Given the description of an element on the screen output the (x, y) to click on. 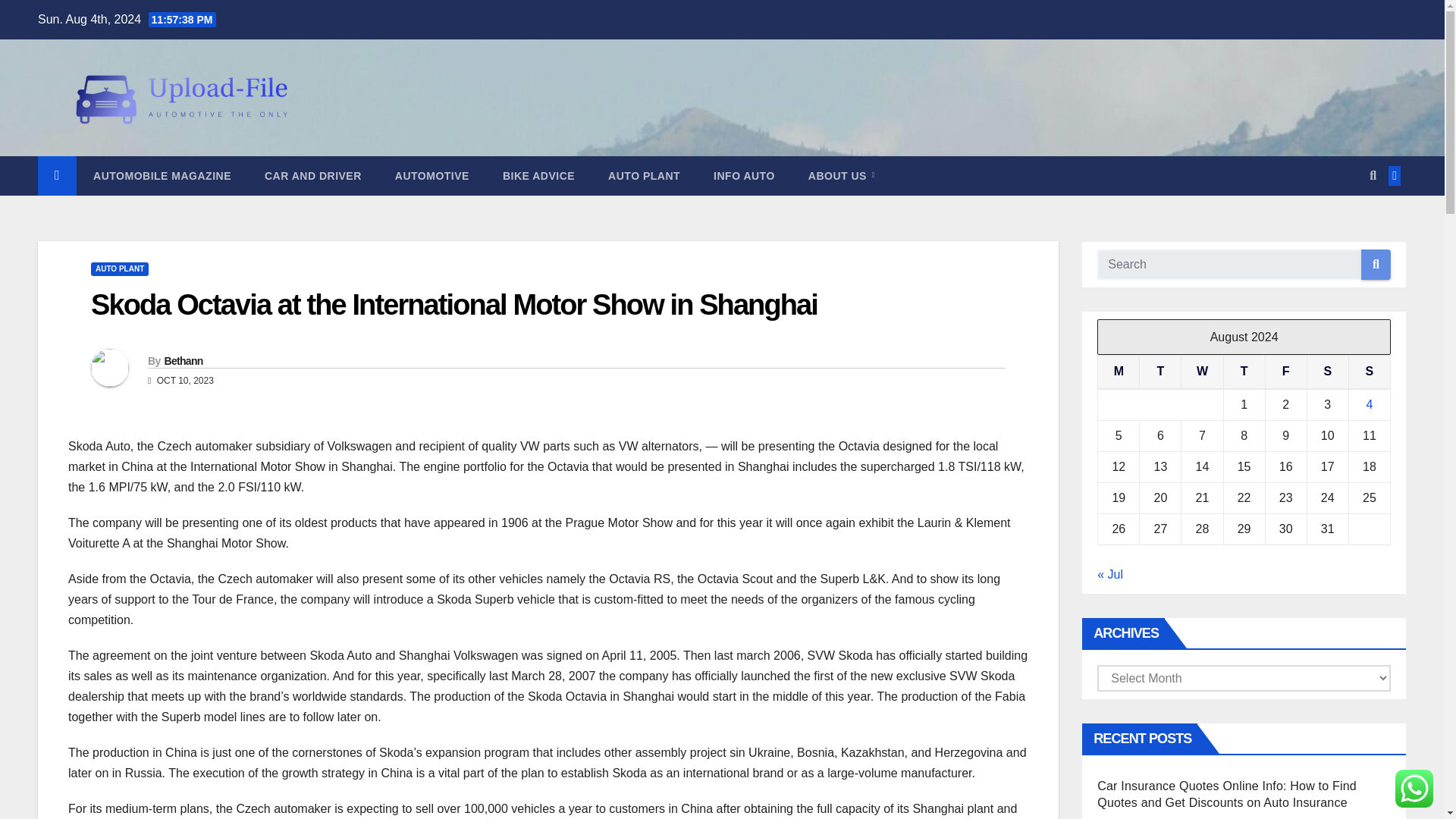
Auto Plant (644, 175)
Car and Driver (312, 175)
BIKE ADVICE (538, 175)
Bike Advice (538, 175)
AUTO PLANT (119, 269)
Bethann (182, 360)
CAR AND DRIVER (312, 175)
AUTOMOTIVE (432, 175)
Info Auto (744, 175)
Automobile Magazine (162, 175)
AUTOMOBILE MAGAZINE (162, 175)
INFO AUTO (744, 175)
Skoda Octavia at the International Motor Show in Shanghai (453, 305)
automotive (432, 175)
